Given the description of an element on the screen output the (x, y) to click on. 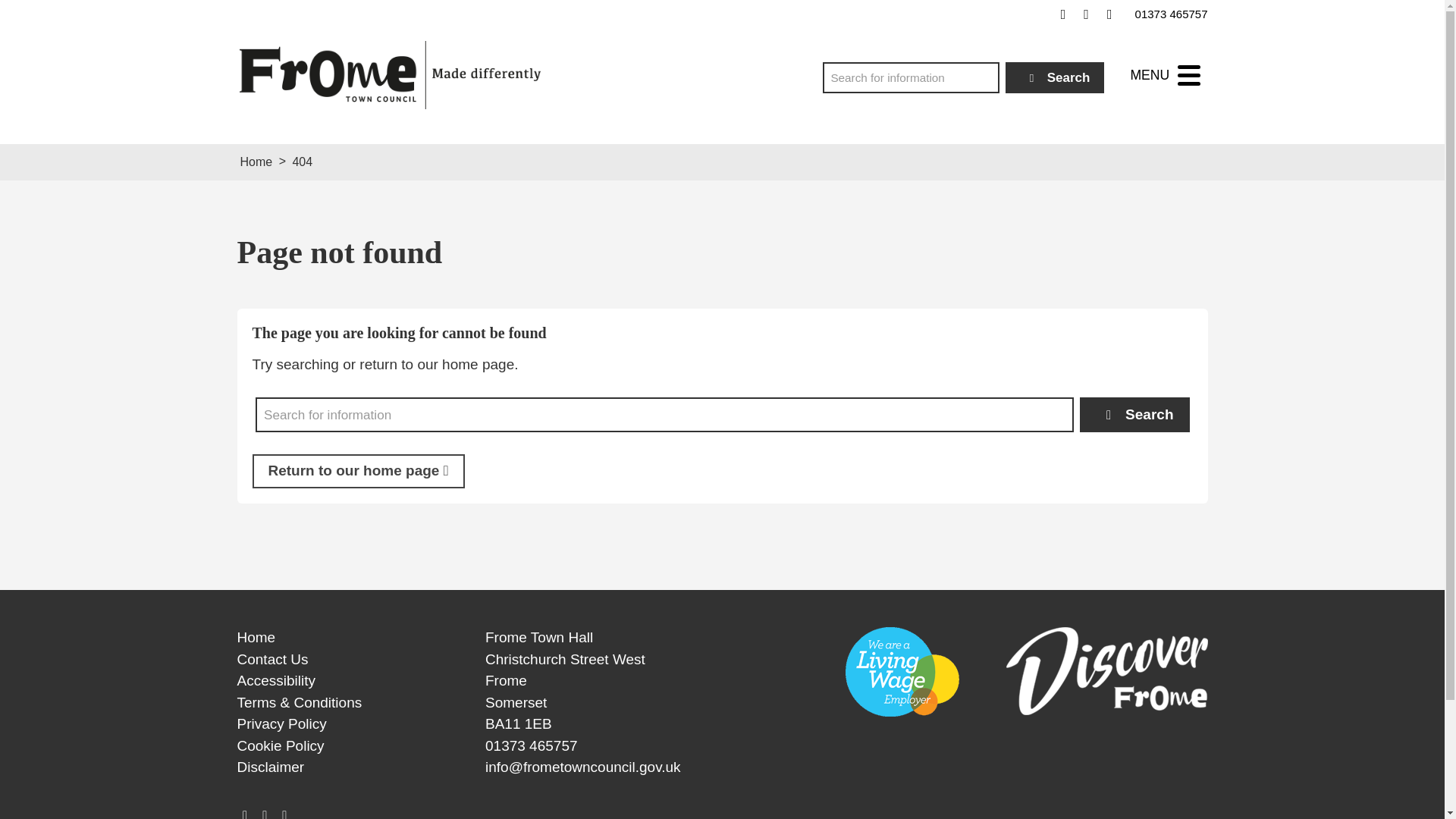
Frome Town Council's Instagram (1109, 13)
Frome Town Council's Facebook (1063, 13)
Frome Town Council's Twitter (1085, 13)
Search (1055, 77)
Go to 404. (302, 161)
MENU (1164, 75)
Go to Home. (256, 161)
